Given the description of an element on the screen output the (x, y) to click on. 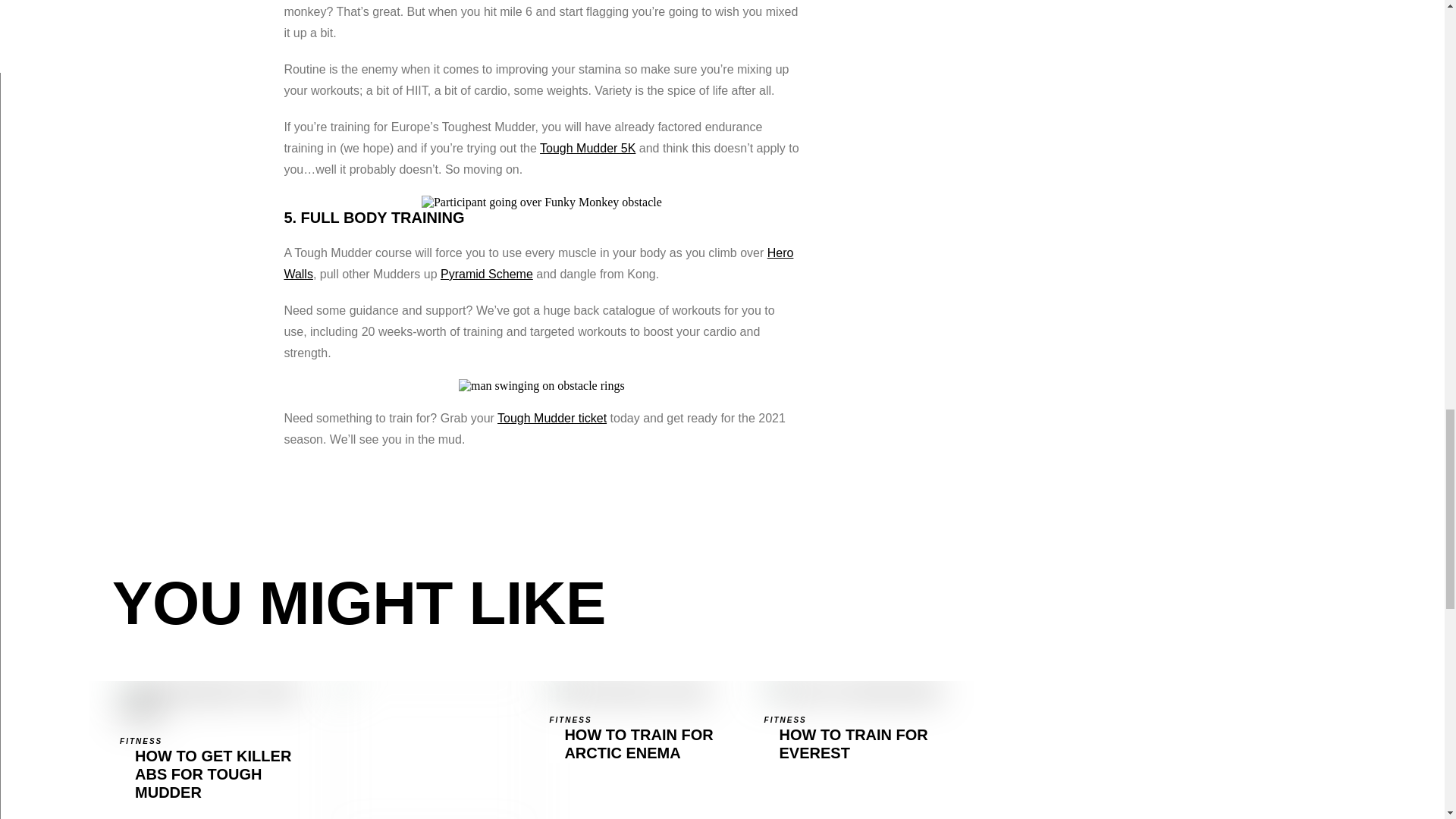
Pyramid Scheme (648, 749)
Tough Mudder 5K (486, 273)
Tough Mudder ticket (587, 147)
Hero Walls (552, 418)
